Given the description of an element on the screen output the (x, y) to click on. 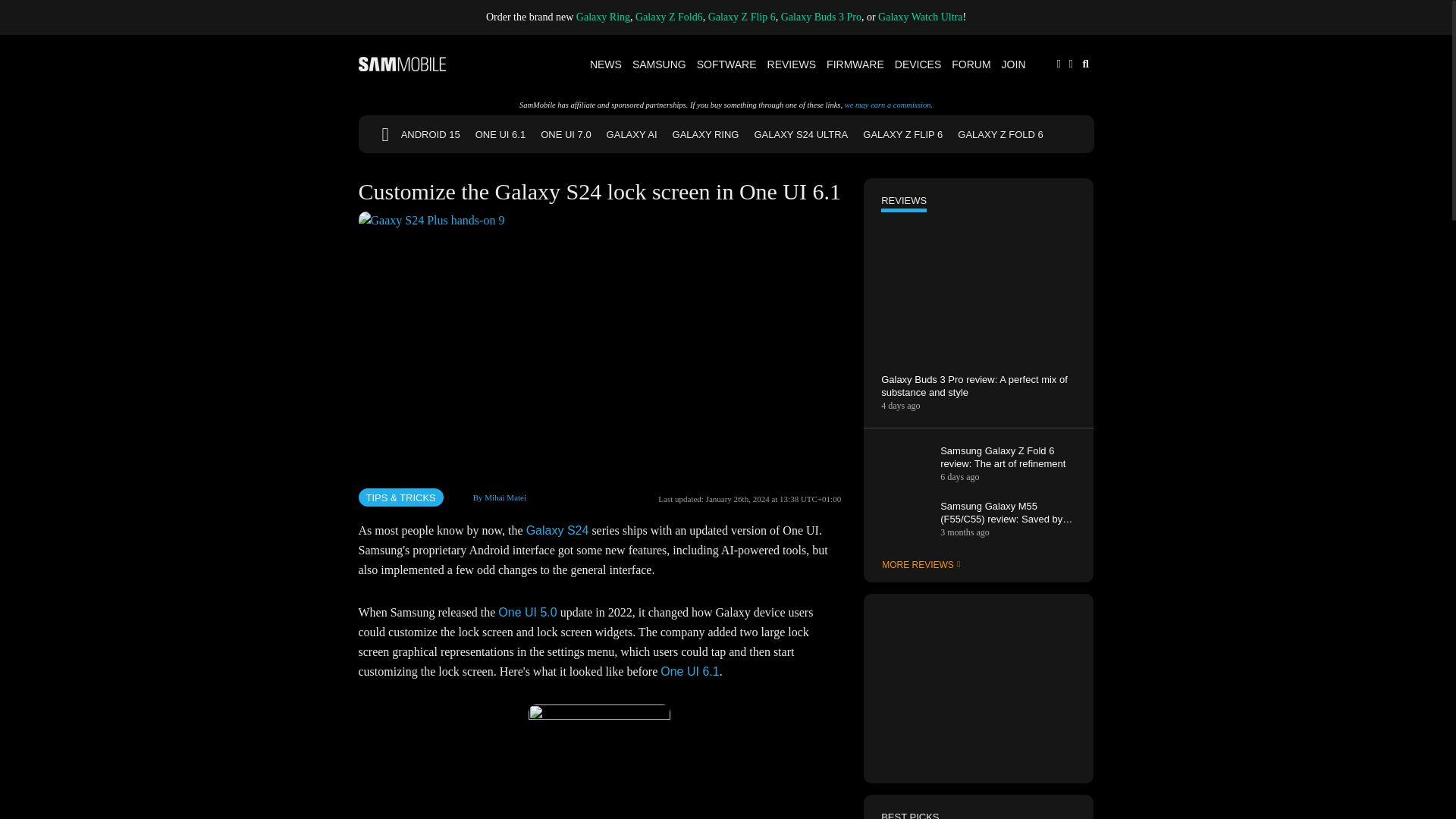
Galaxy Buds 3 Pro (820, 16)
Galaxy Z Fold6 (668, 16)
Galaxy Ring (603, 16)
Galaxy Watch Ultra (919, 16)
SAMSUNG (659, 64)
SamMobile logo (401, 63)
Samsung (659, 64)
Galaxy Z Flip 6 (741, 16)
